Given the description of an element on the screen output the (x, y) to click on. 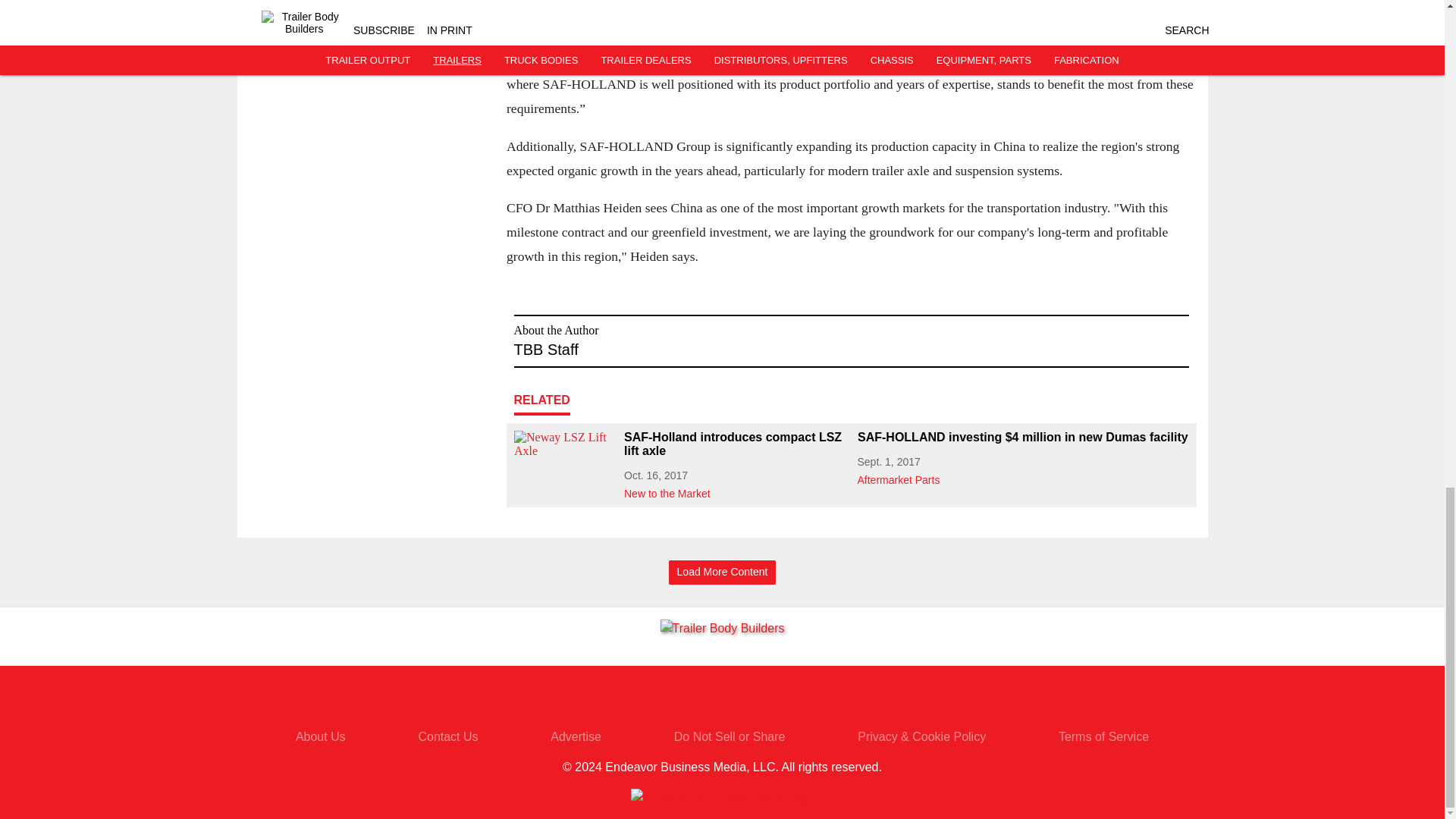
Trailers (424, 31)
